Given the description of an element on the screen output the (x, y) to click on. 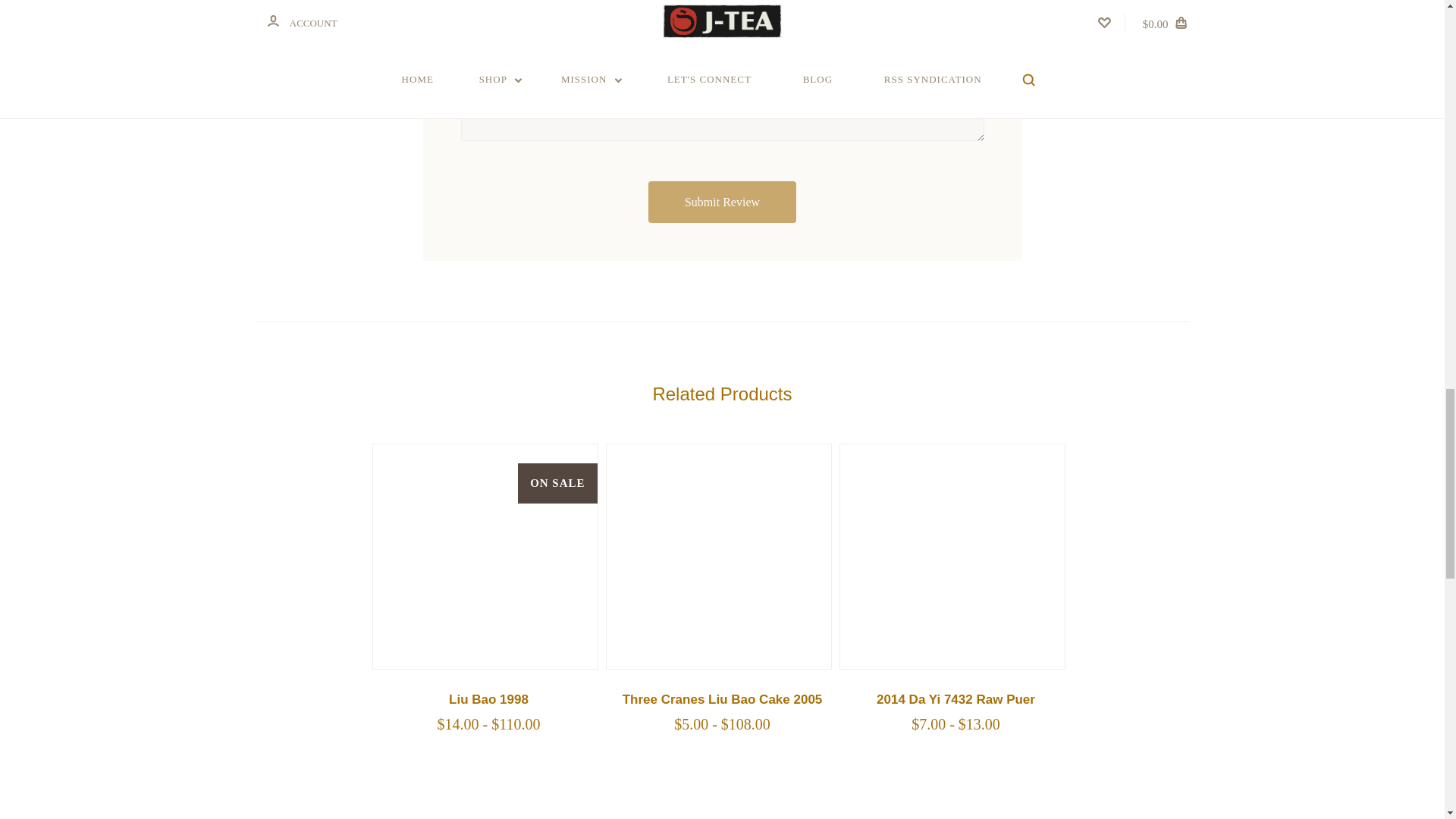
Aged Liu Bao tea soup (484, 556)
Liu Bao Dark Tea Cake 2005 (719, 556)
Submit Review (721, 201)
2014 Da Yi 7432 Raw Puer (952, 556)
